Given the description of an element on the screen output the (x, y) to click on. 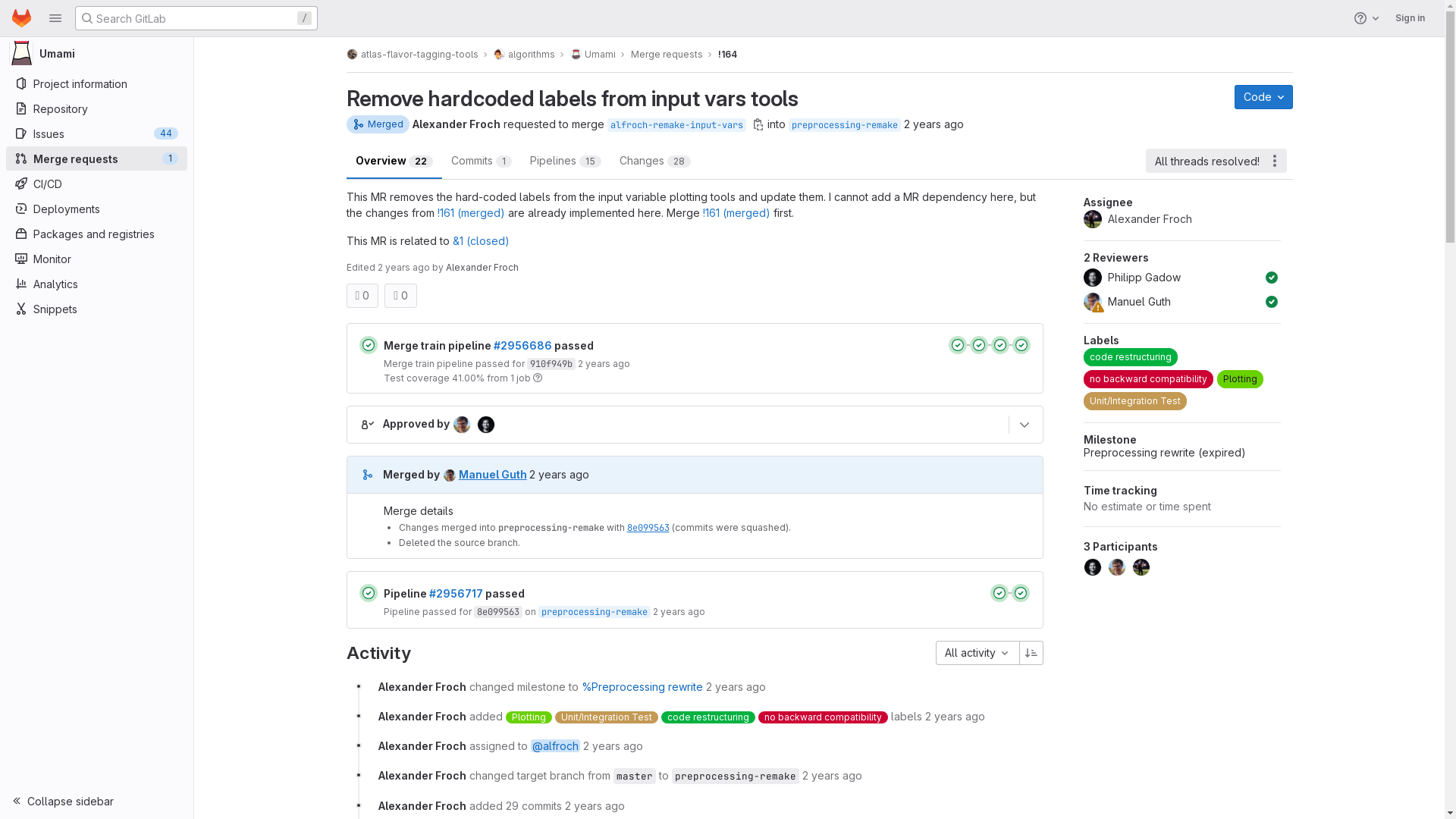
Approved by @mguth Element type: hover (1271, 301)
Alexander Froch Element type: text (421, 715)
Umami Element type: text (97, 52)
Plotting Element type: text (528, 717)
Changes
28 Element type: text (654, 160)
Repository Element type: text (96, 108)
!161 (merged) Element type: text (735, 212)
Pipelines
15 Element type: text (564, 160)
#2956717 Element type: text (456, 592)
Alexander Froch Element type: text (421, 745)
%Preprocessing rewrite Element type: text (641, 686)
Sign in Element type: text (1409, 18)
Preprocessing rewrite (expired) Element type: text (1164, 451)
Alexander Froch Element type: text (421, 805)
Project information Element type: text (96, 83)
Monitor Element type: text (96, 258)
8e099563 Element type: text (647, 527)
Code Element type: text (1263, 96)
Homepage Element type: hover (21, 18)
&1 (closed) Element type: text (479, 240)
Manuel Guth Element type: text (484, 473)
Issues
44 Element type: text (96, 133)
Snippets Element type: text (96, 308)
2 years ago Element type: text (612, 745)
Overview
22 Element type: text (393, 160)
All activity Element type: text (977, 652)
Unit/Integration Test Element type: text (606, 717)
Alexander Froch Element type: text (421, 686)
Alexander Froch Element type: text (481, 267)
Manuel Guth Element type: text (1172, 301)
Merge requests Element type: text (666, 54)
Skip to content Element type: text (11, 18)
2 years ago Element type: text (594, 805)
CI/CD Element type: text (96, 183)
alfroch-remake-input-vars Element type: text (675, 124)
!164 Element type: text (726, 54)
Packages and registries Element type: text (96, 233)
code restructuring Element type: text (708, 717)
Umami Element type: text (592, 54)
#2956686 Element type: text (521, 344)
Analytics Element type: text (96, 283)
Alexander Froch Element type: text (456, 123)
no backward compatibility Element type: text (823, 717)
Passed Element type: hover (368, 592)
Unit/Integration Test Element type: text (1134, 401)
Merge requests
1 Element type: text (96, 158)
Expand eligible approvers Element type: hover (1024, 424)
Deployments Element type: text (96, 208)
Commits
1 Element type: text (480, 160)
Help Element type: text (1367, 18)
8e099563 Element type: text (497, 611)
Passed Element type: hover (368, 344)
2 years ago Element type: text (832, 774)
atlas-flavor-tagging-tools Element type: text (411, 54)
910f949b Element type: text (550, 363)
no backward compatibility Element type: text (1148, 379)
code restructuring Element type: text (1130, 357)
2 years ago Element type: text (735, 686)
!161 (merged) Element type: text (470, 212)
Copy branch name Element type: hover (758, 124)
Approved by @pgadow Element type: hover (1271, 277)
Philipp Gadow Element type: text (1172, 277)
Plotting Element type: text (1240, 379)
Alexander Froch Element type: text (1181, 219)
2 years ago Element type: text (955, 715)
preprocessing-remake Element type: text (844, 124)
Thread options Element type: hover (1273, 160)
Alexander Froch Element type: text (421, 774)
algorithms Element type: text (523, 54)
@alfroch Element type: text (555, 745)
